Given the description of an element on the screen output the (x, y) to click on. 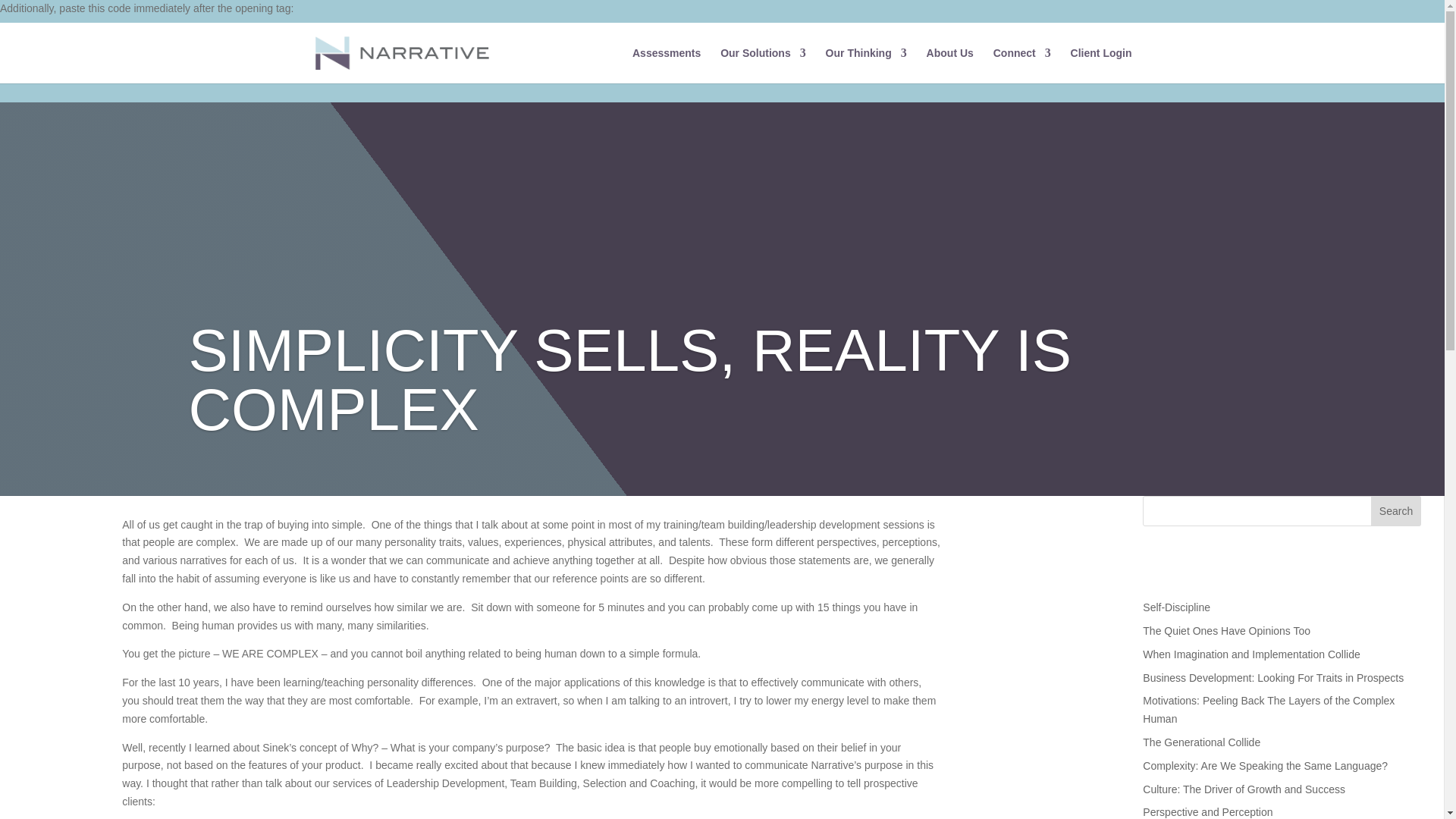
Culture: The Driver of Growth and Success (1243, 788)
Connect (1021, 65)
Search (1396, 511)
Client Login (1101, 65)
Self-Discipline (1175, 607)
When Imagination and Implementation Collide (1250, 654)
The Quiet Ones Have Opinions Too (1226, 630)
About Us (950, 65)
Our Thinking (866, 65)
Our Solutions (763, 65)
Perspective and Perception (1207, 811)
The Generational Collide (1201, 742)
Business Development: Looking For Traits in Prospects (1272, 677)
Complexity: Are We Speaking the Same Language? (1264, 766)
Assessments (665, 65)
